Given the description of an element on the screen output the (x, y) to click on. 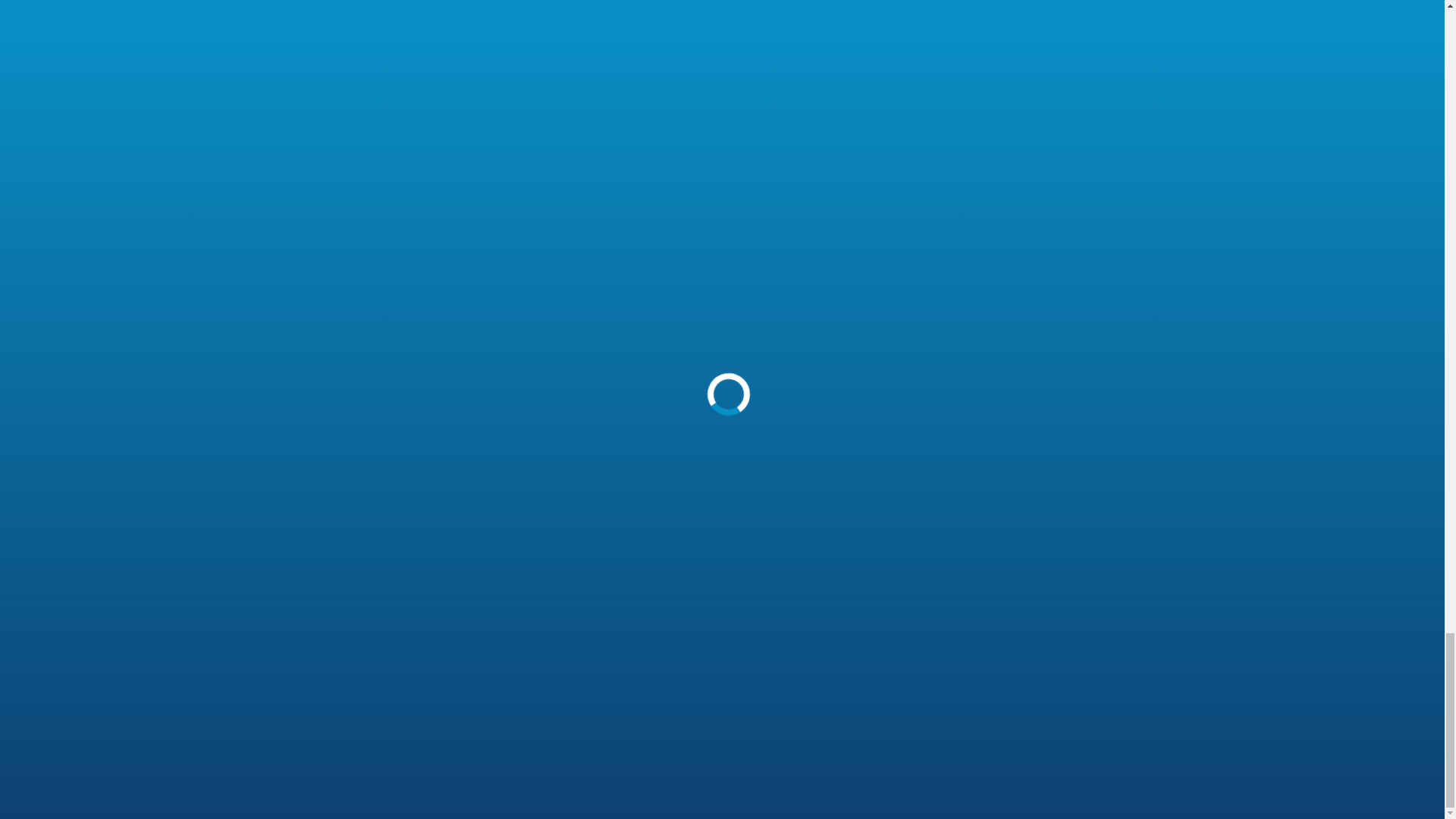
CRM (746, 508)
Sales Automation (780, 561)
EN (592, 658)
Salesforce (913, 561)
Legal (595, 631)
About (596, 508)
Zoho (898, 508)
HubSpot (908, 534)
LET'S DO IT! (721, 230)
Technological Certifications (617, 596)
